Given the description of an element on the screen output the (x, y) to click on. 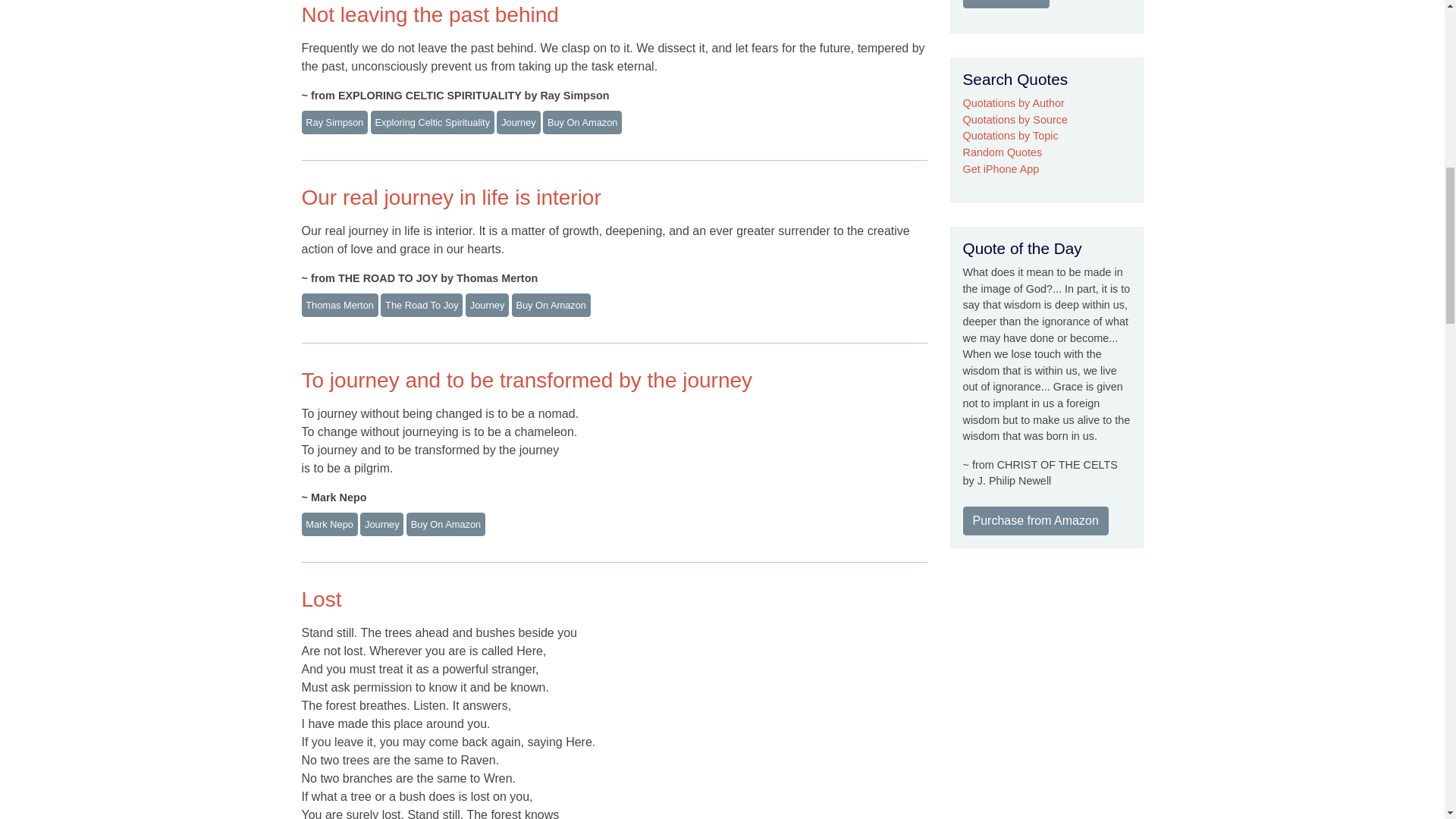
Buy On Amazon (445, 524)
Journey (518, 122)
Buy On Amazon (551, 304)
Exploring Celtic Spirituality (433, 122)
The Road To Joy (421, 304)
Ray Simpson (334, 122)
Journey (486, 304)
To journey and to be transformed by the journey (526, 380)
Buy On Amazon (582, 122)
Lost (321, 599)
